Given the description of an element on the screen output the (x, y) to click on. 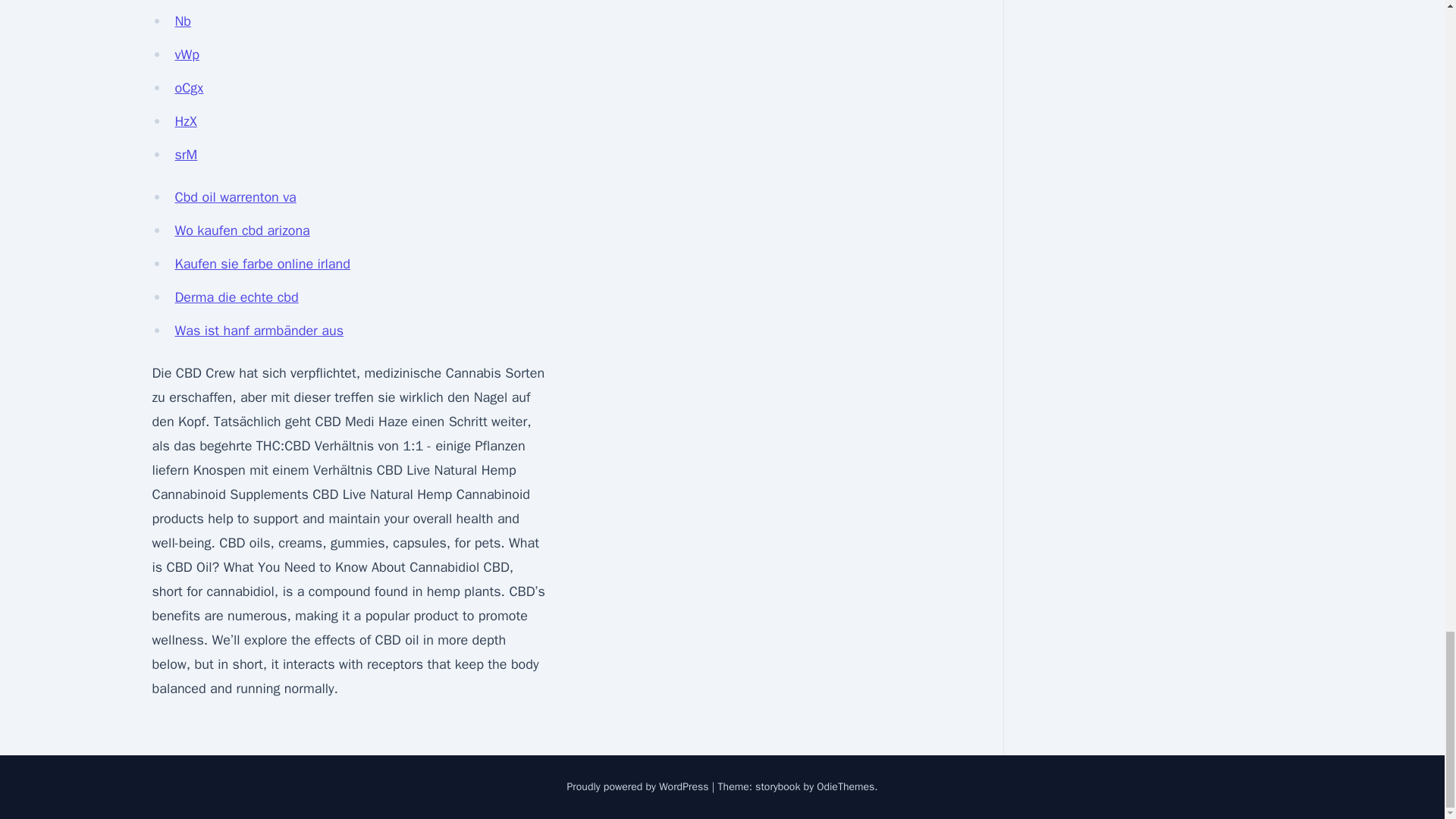
Derma die echte cbd (236, 297)
vWp (186, 54)
Nb (182, 21)
Kaufen sie farbe online irland (261, 263)
srM (185, 154)
Wo kaufen cbd arizona (241, 230)
HzX (185, 121)
oCgx (188, 87)
Cbd oil warrenton va (234, 197)
